Given the description of an element on the screen output the (x, y) to click on. 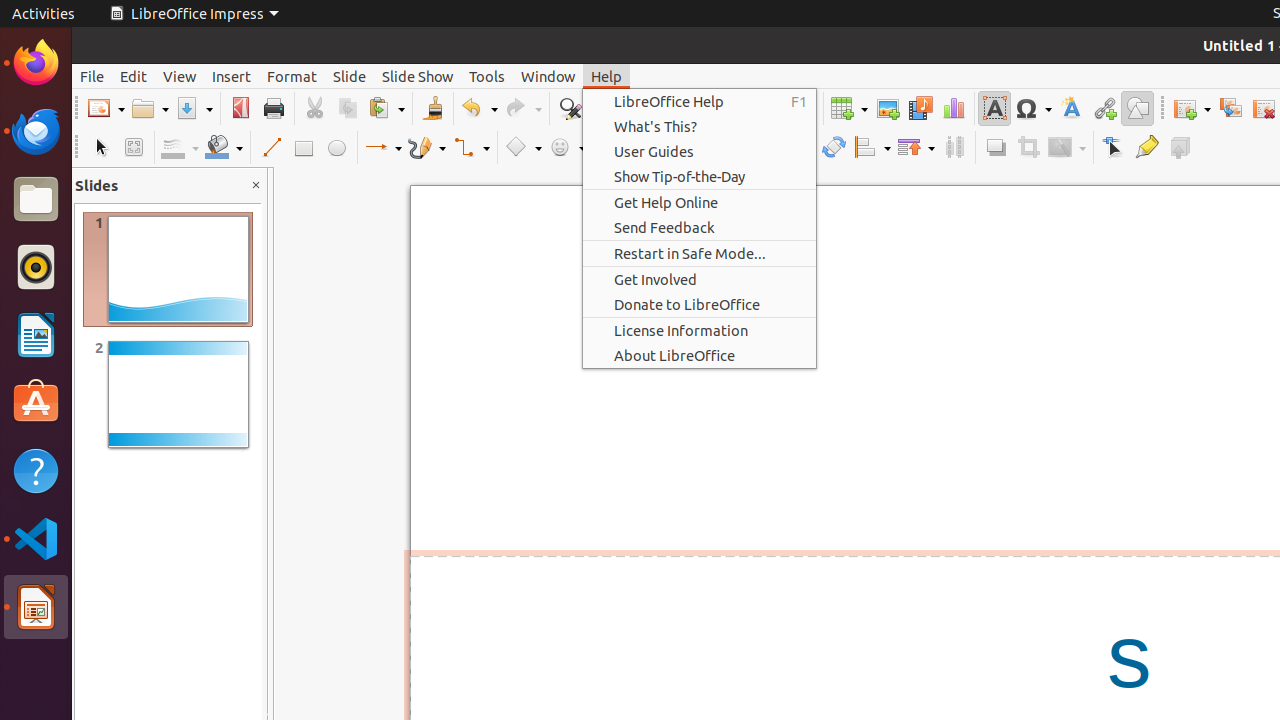
Zoom & Pan Element type: push-button (133, 147)
LibreOffice Help Element type: menu-item (699, 101)
About LibreOffice Element type: menu-item (699, 355)
Thunderbird Mail Element type: push-button (36, 131)
